Given the description of an element on the screen output the (x, y) to click on. 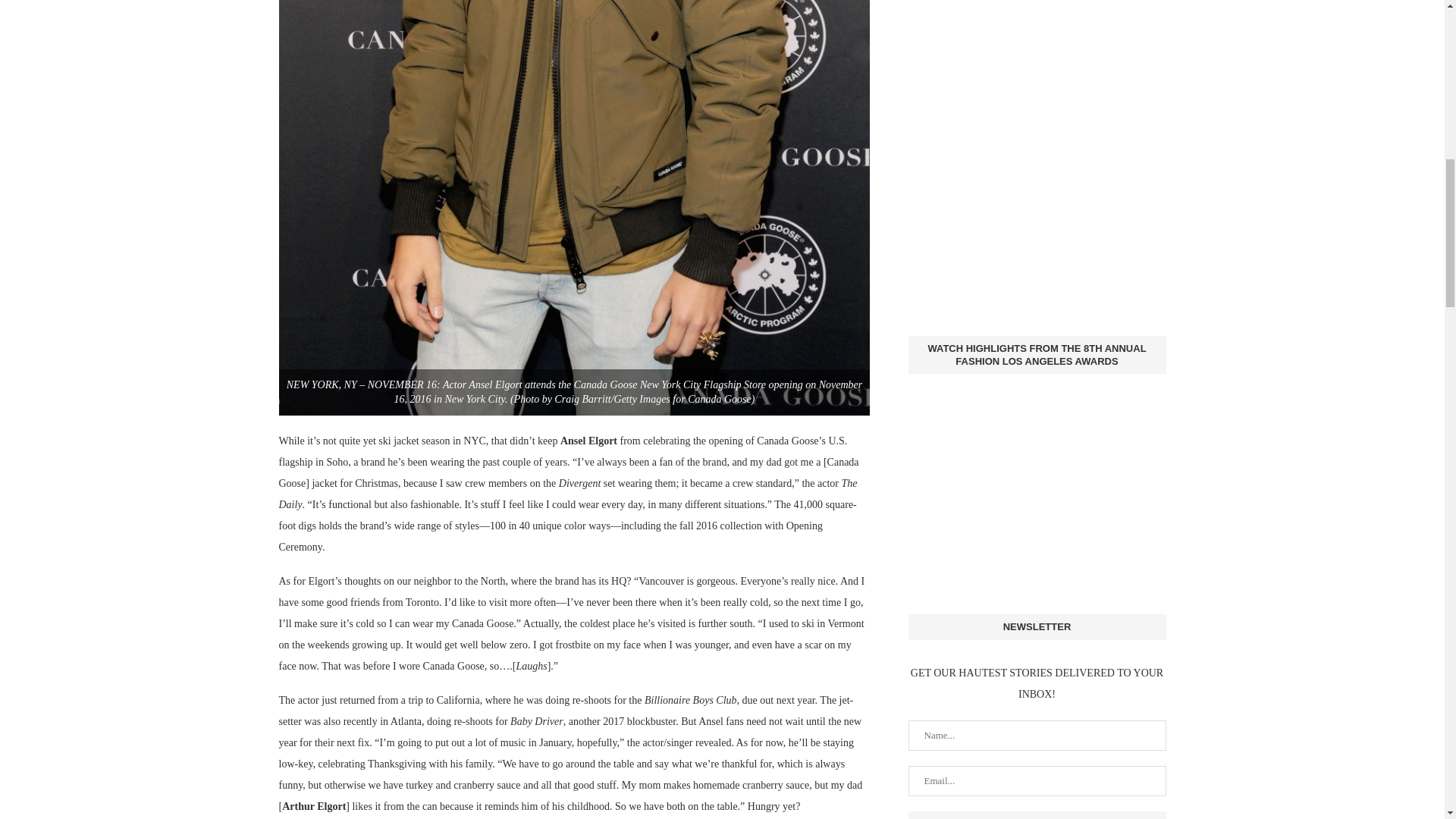
Subscribe (1037, 815)
